Given the description of an element on the screen output the (x, y) to click on. 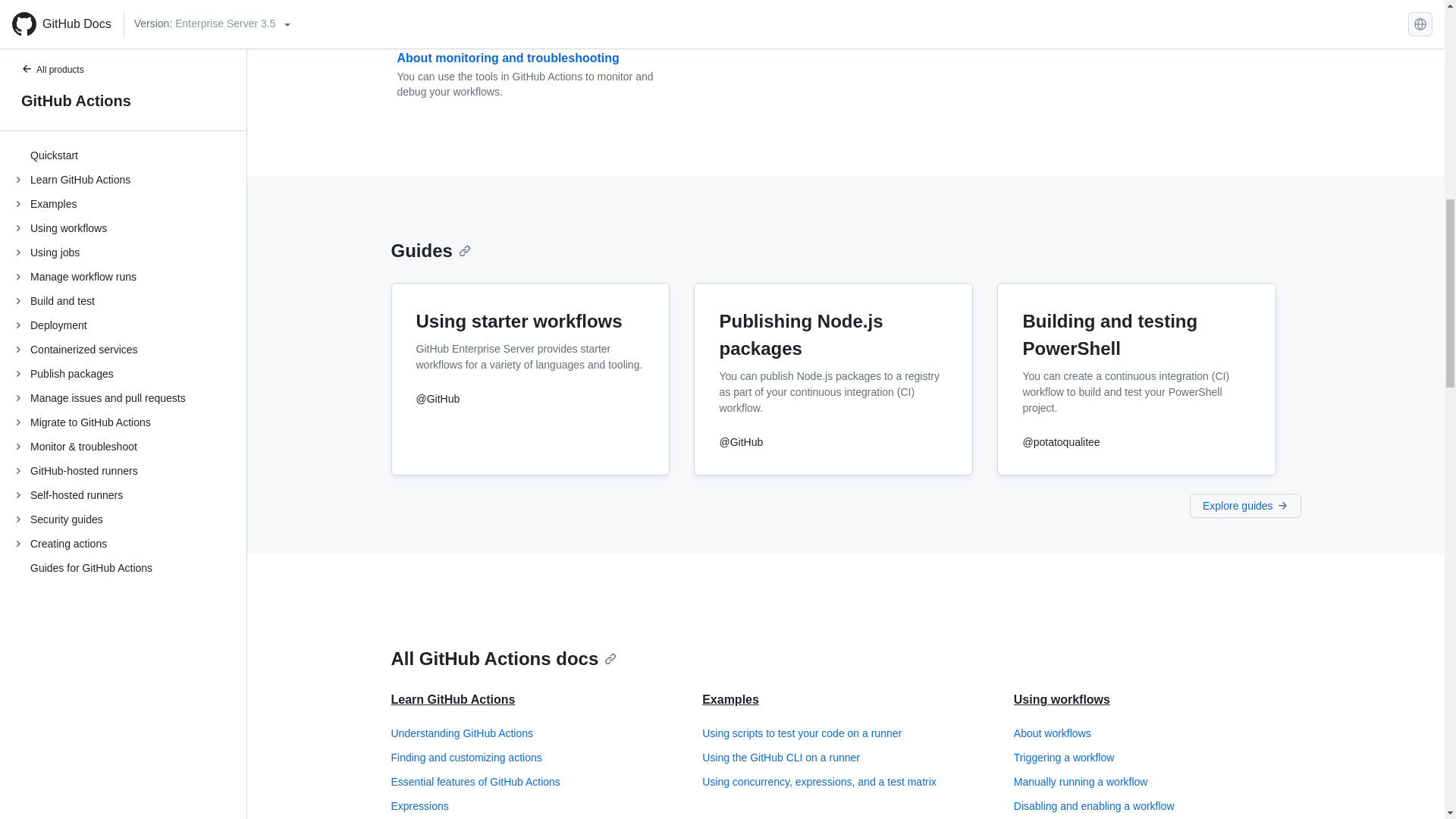
Encrypted secrets (845, 4)
Guides (430, 250)
